Given the description of an element on the screen output the (x, y) to click on. 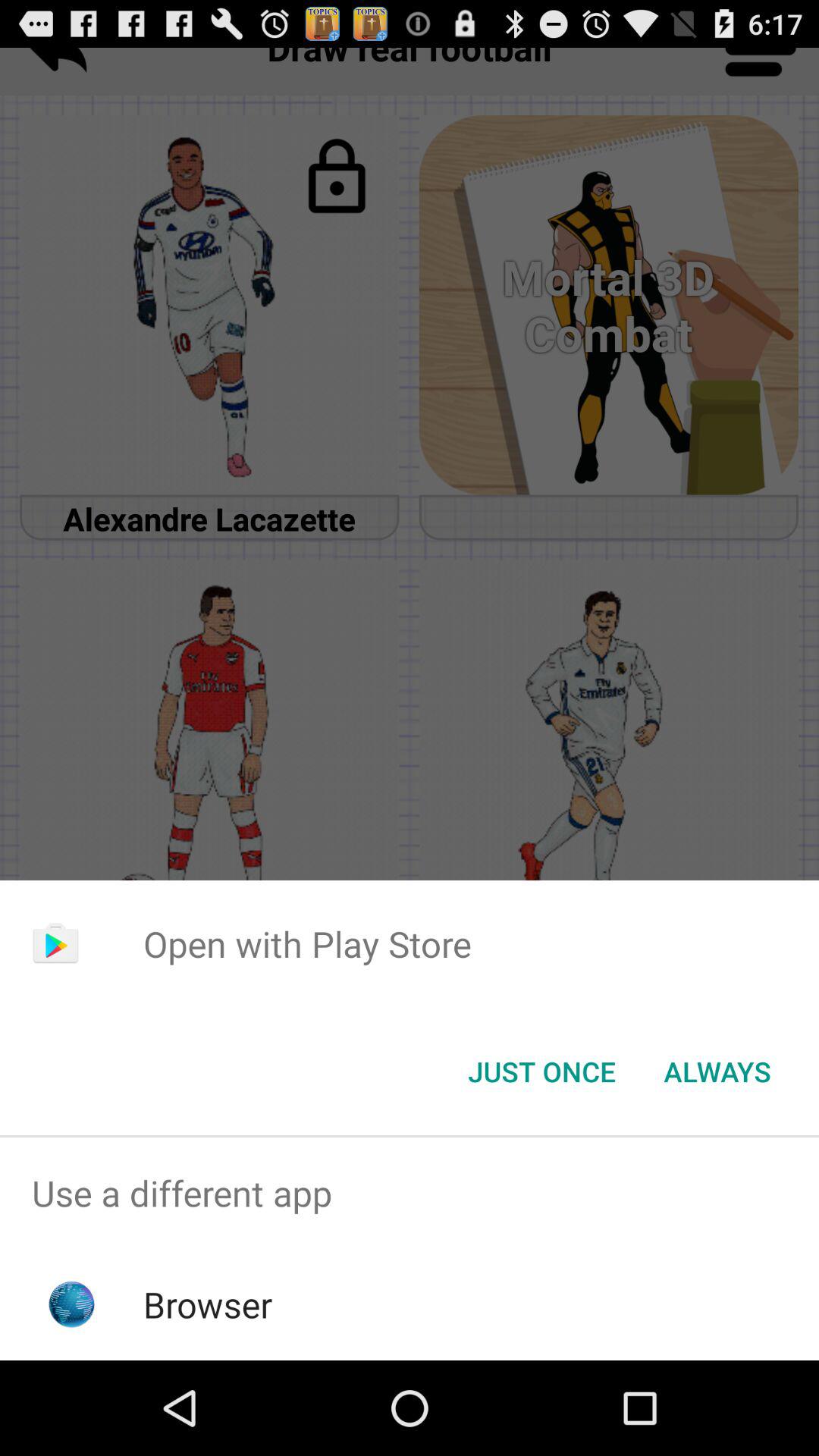
choose item below use a different app (207, 1304)
